Given the description of an element on the screen output the (x, y) to click on. 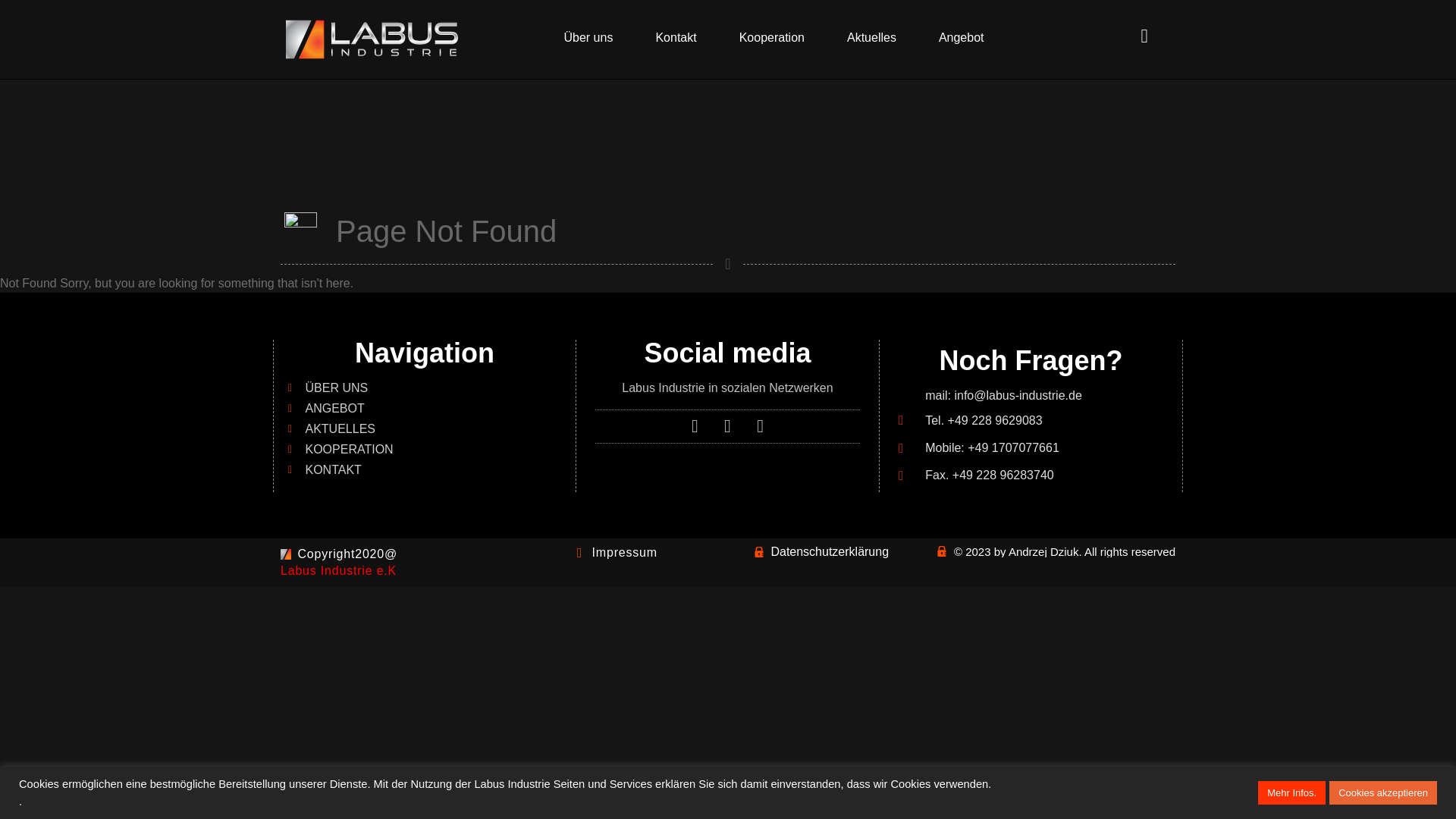
KONTAKT (431, 469)
AKTUELLES (431, 428)
Kontakt (675, 37)
Impressum (614, 552)
Aktuelles (871, 37)
ANGEBOT (431, 408)
Angebot (961, 37)
KOOPERATION (431, 449)
Kooperation (771, 37)
